Given the description of an element on the screen output the (x, y) to click on. 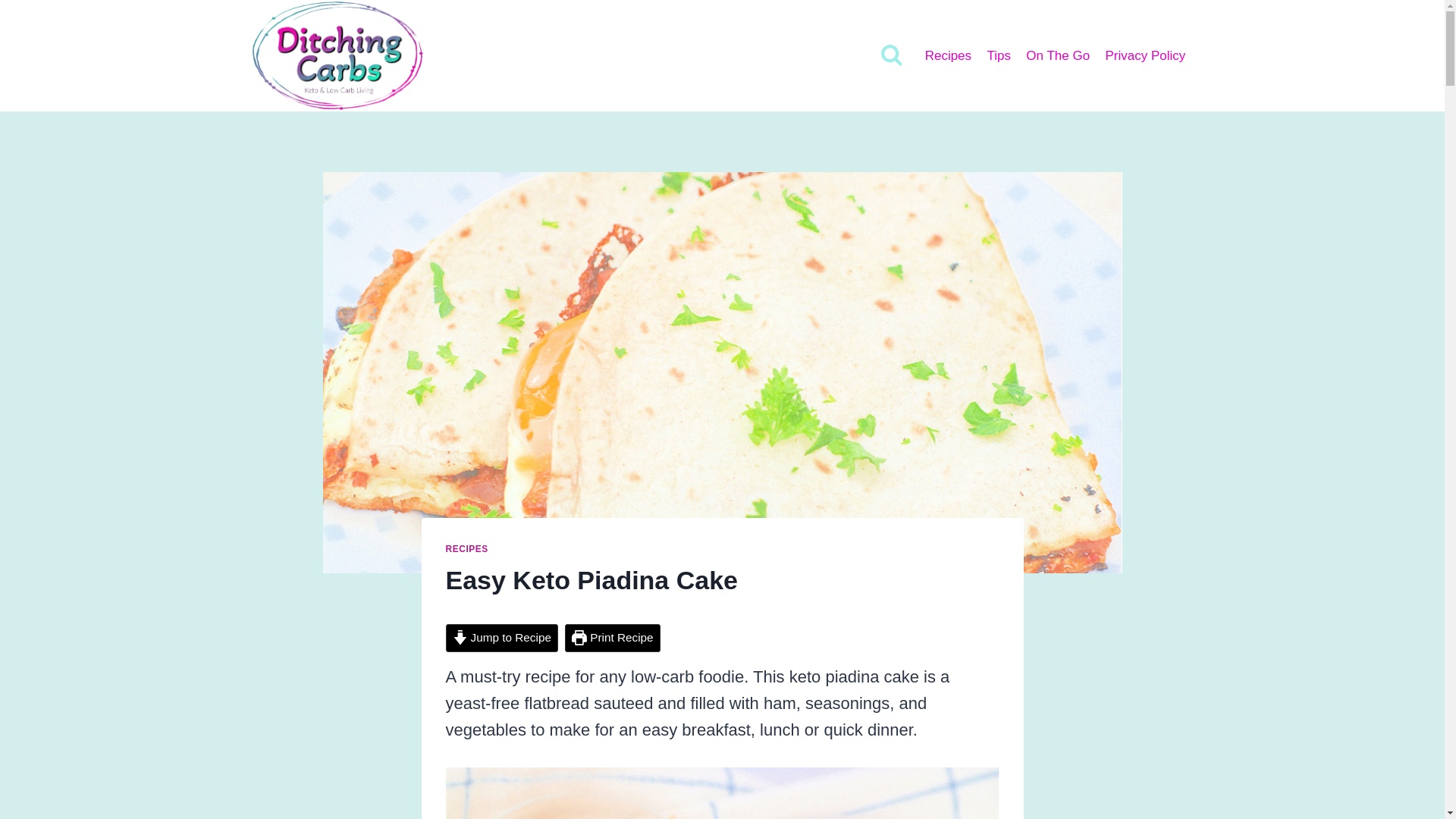
Privacy Policy (1144, 55)
RECIPES (466, 548)
On The Go (1057, 55)
Tips (997, 55)
Recipes (947, 55)
Print Recipe (611, 637)
Jump to Recipe (501, 637)
